Given the description of an element on the screen output the (x, y) to click on. 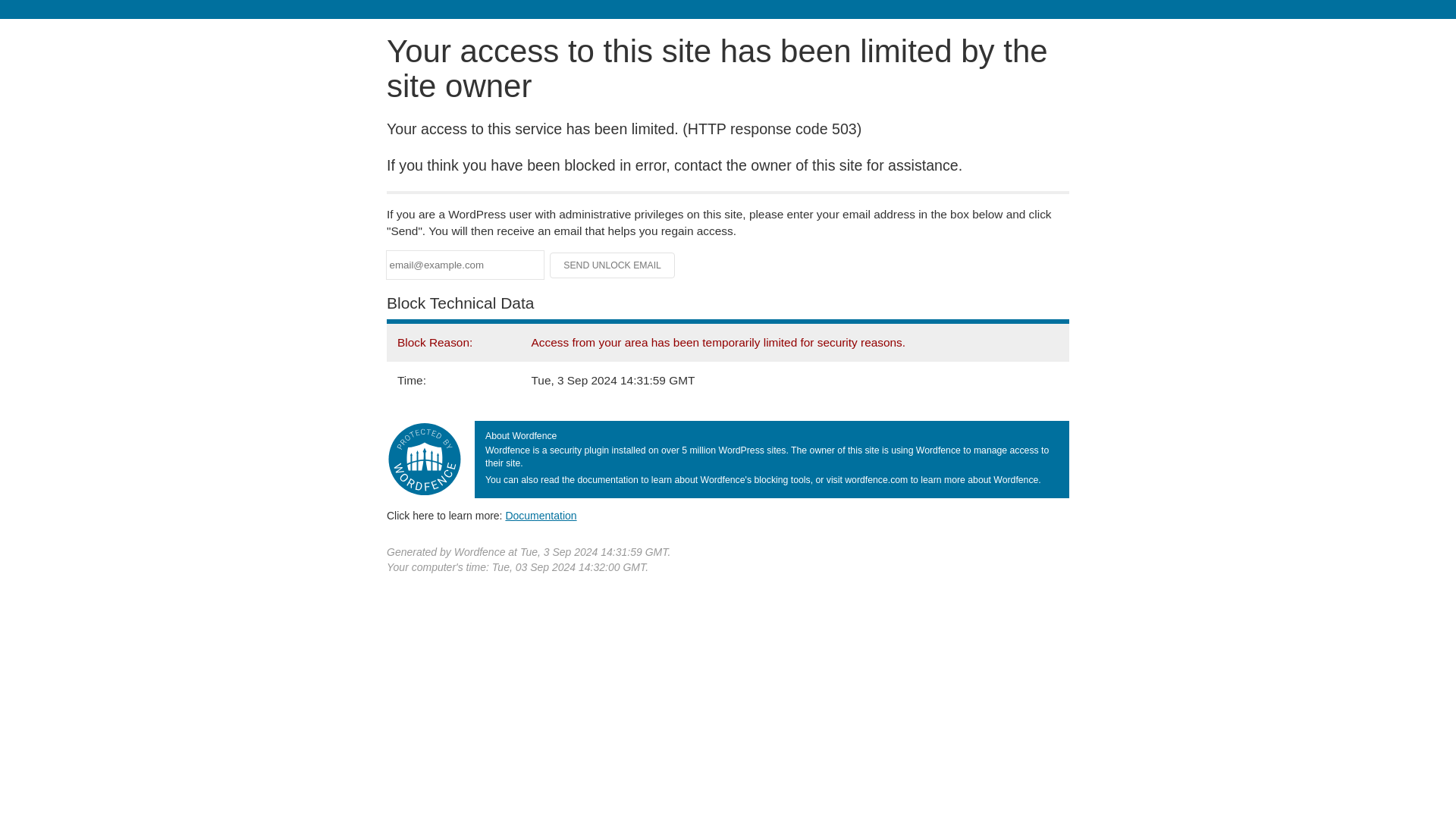
Documentation (540, 515)
Send Unlock Email (612, 265)
Send Unlock Email (612, 265)
